Given the description of an element on the screen output the (x, y) to click on. 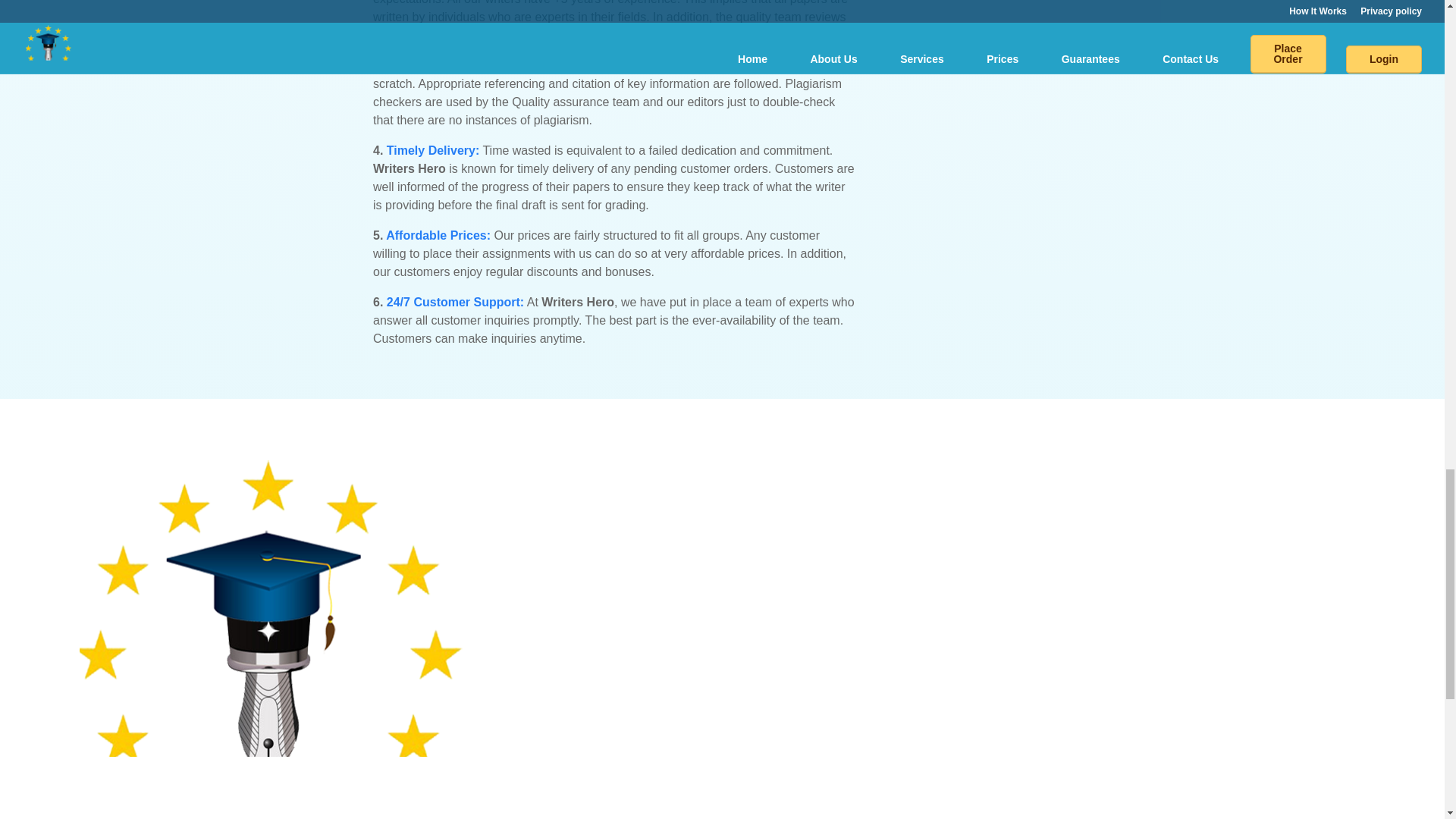
LinkedIn (1352, 472)
Facebook (1261, 472)
Twitter (1291, 472)
